Given the description of an element on the screen output the (x, y) to click on. 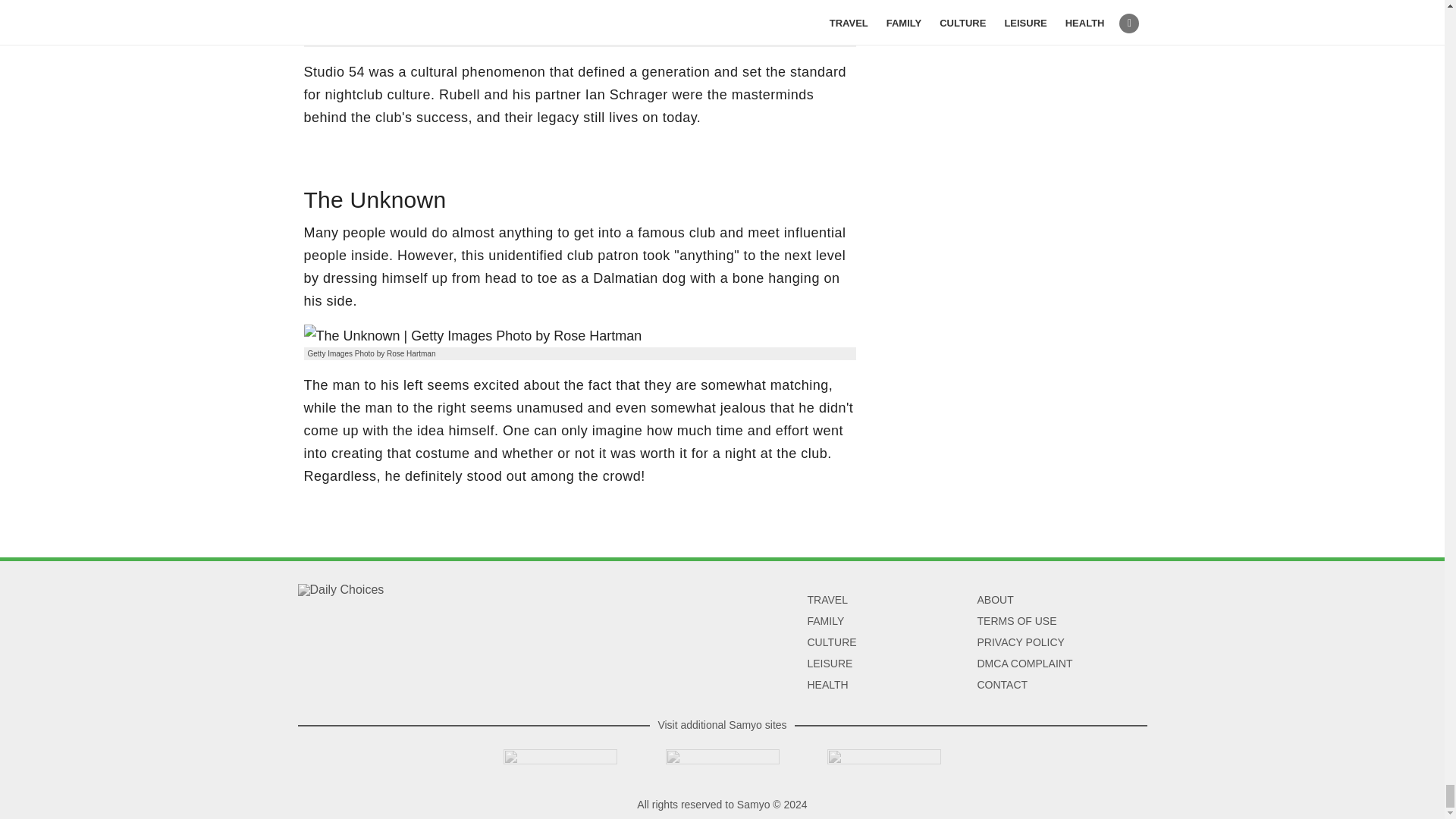
LEISURE (828, 663)
PRIVACY POLICY (1020, 642)
FAMILY (825, 621)
CONTACT (1001, 684)
CULTURE (831, 642)
DMCA COMPLAINT (1023, 663)
TRAVEL (826, 599)
HEALTH (826, 684)
TERMS OF USE (1016, 621)
ABOUT (994, 599)
